Given the description of an element on the screen output the (x, y) to click on. 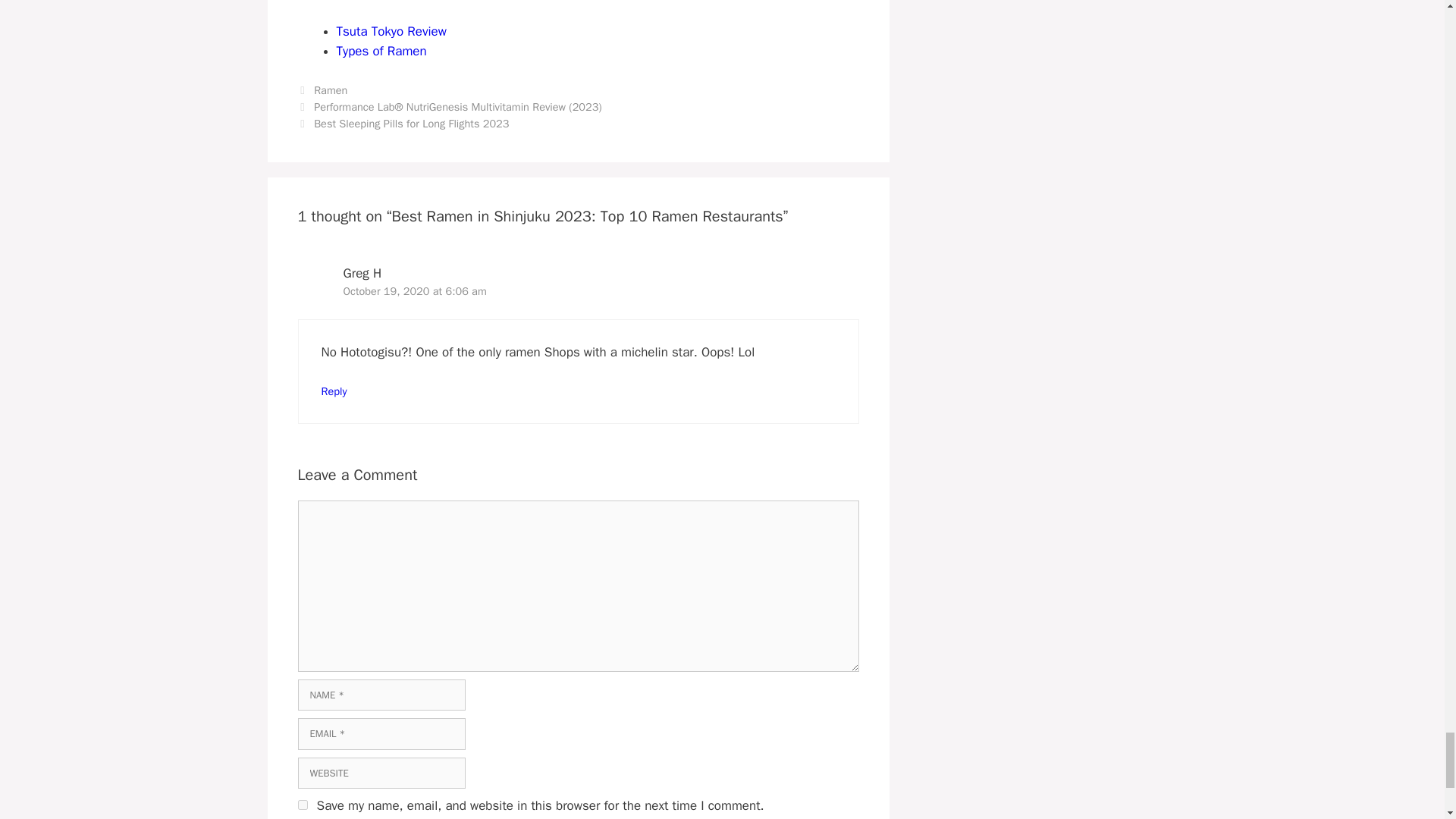
yes (302, 804)
Tsuta Tokyo Review (391, 31)
